Given the description of an element on the screen output the (x, y) to click on. 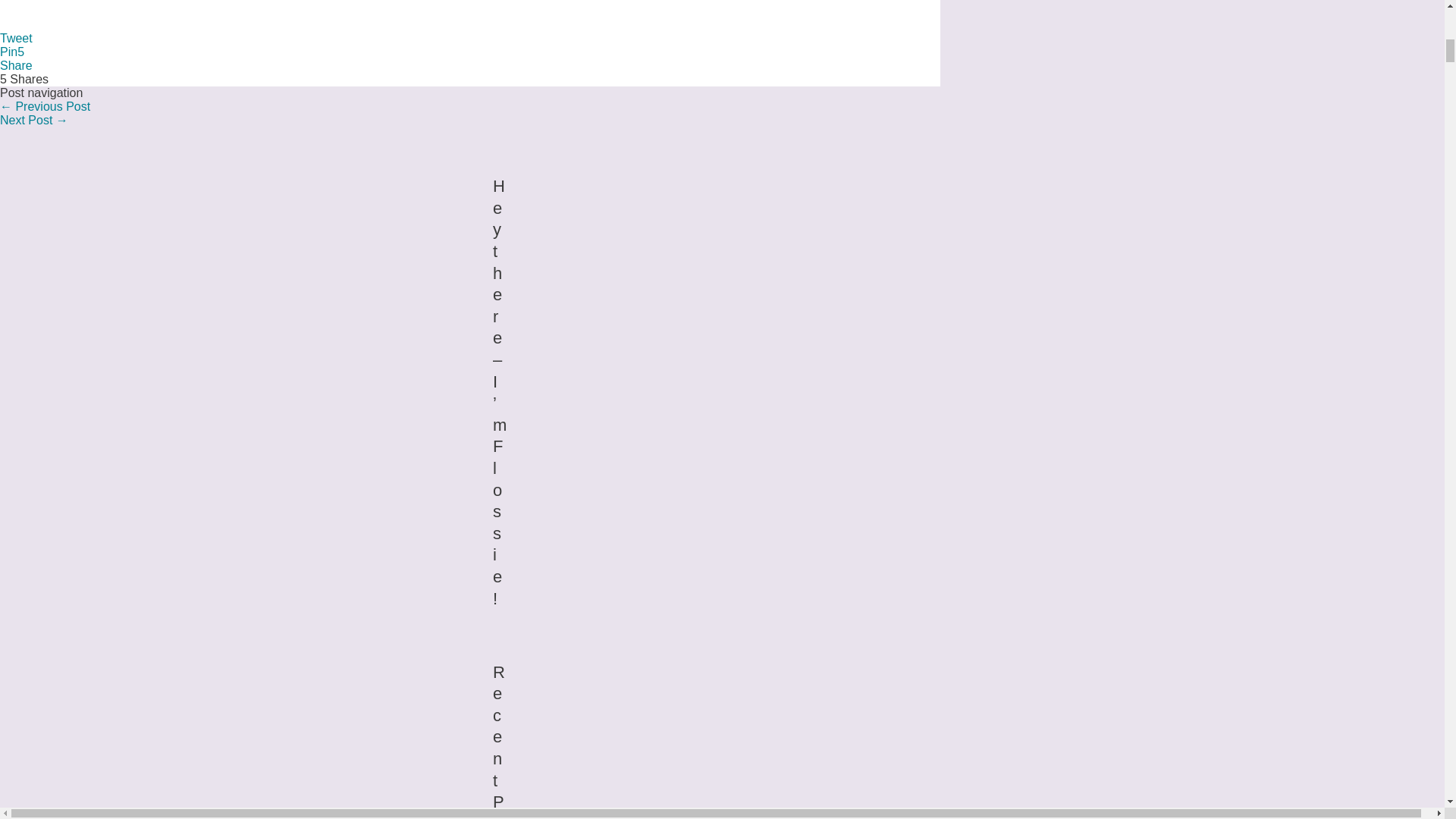
Ten Bedroom Organization Hacks for the Whole Family (34, 119)
Share (16, 65)
How To Make A Homework Station On A Budget (45, 106)
Tweet (16, 38)
Pin5 (12, 51)
